Given the description of an element on the screen output the (x, y) to click on. 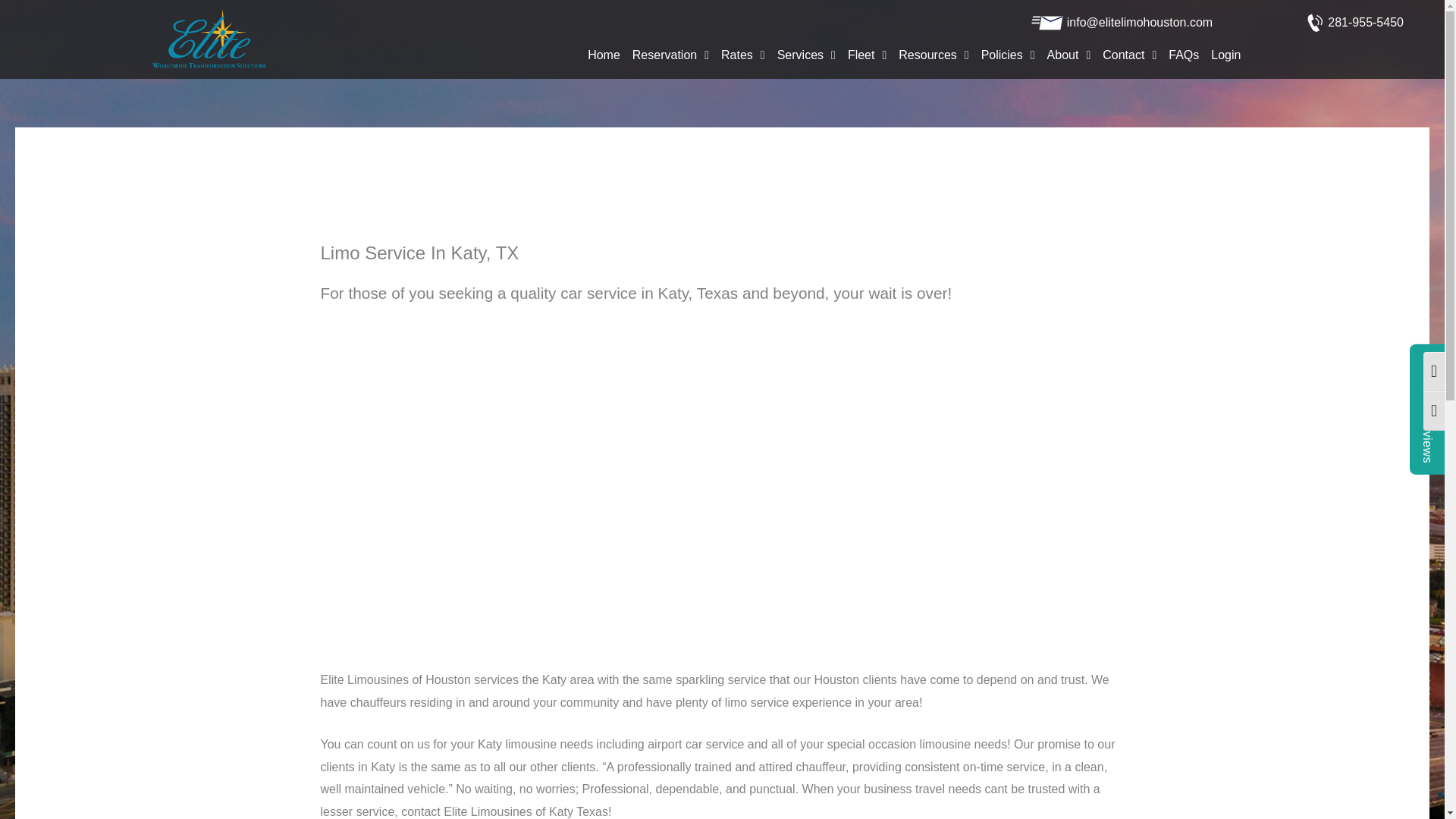
Services (806, 55)
Home (603, 55)
Rates (742, 55)
Fleet (866, 55)
Resources (933, 55)
Reservation (670, 55)
